Given the description of an element on the screen output the (x, y) to click on. 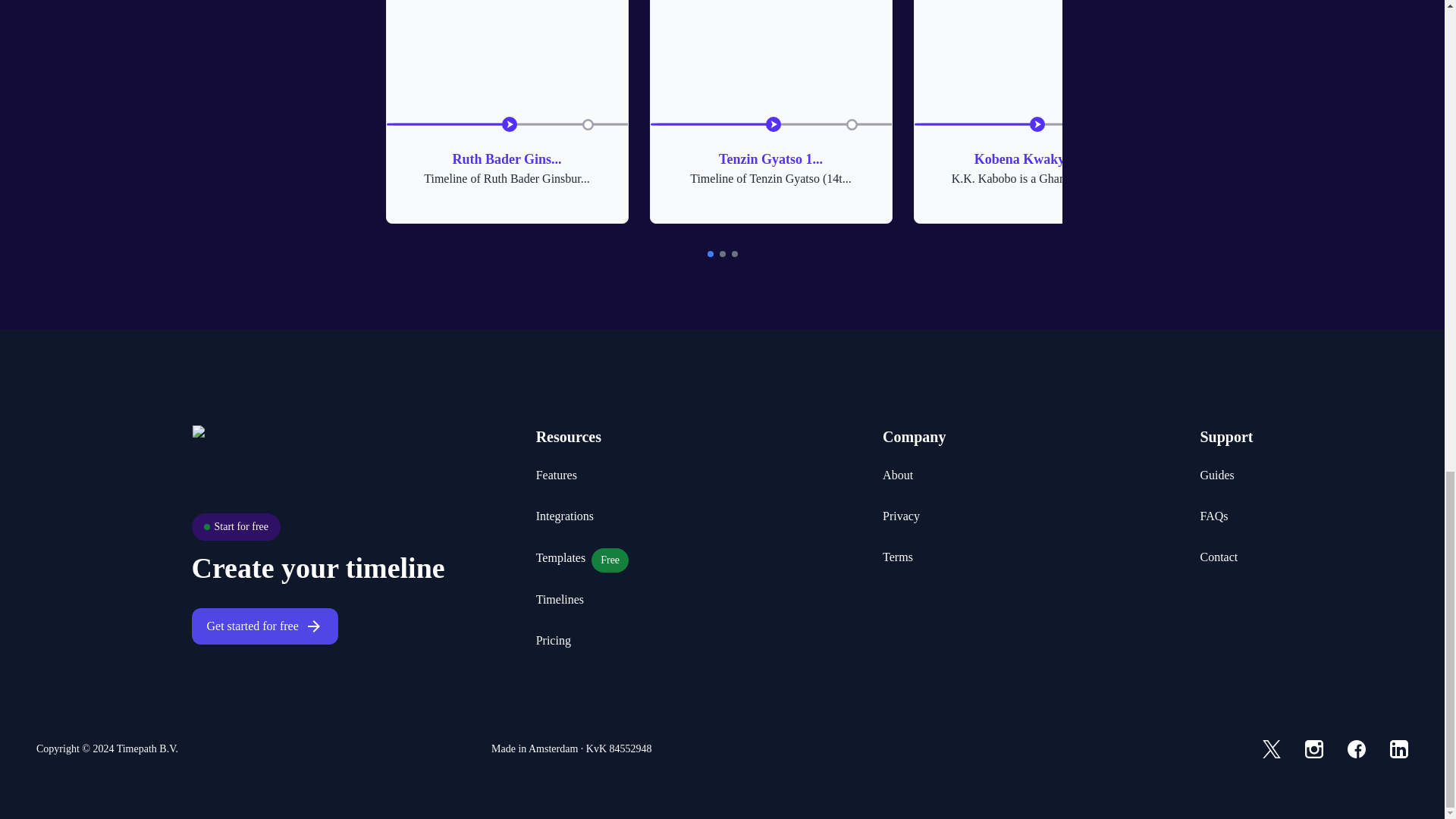
About (897, 475)
Pricing (552, 640)
Timelines (559, 599)
Contact (1218, 556)
Support (1035, 111)
Integrations (1225, 436)
Templates (564, 515)
Guides (560, 557)
Features (1216, 475)
Privacy (555, 475)
Terms (901, 515)
Get started for free (897, 556)
FAQs (252, 626)
